Given the description of an element on the screen output the (x, y) to click on. 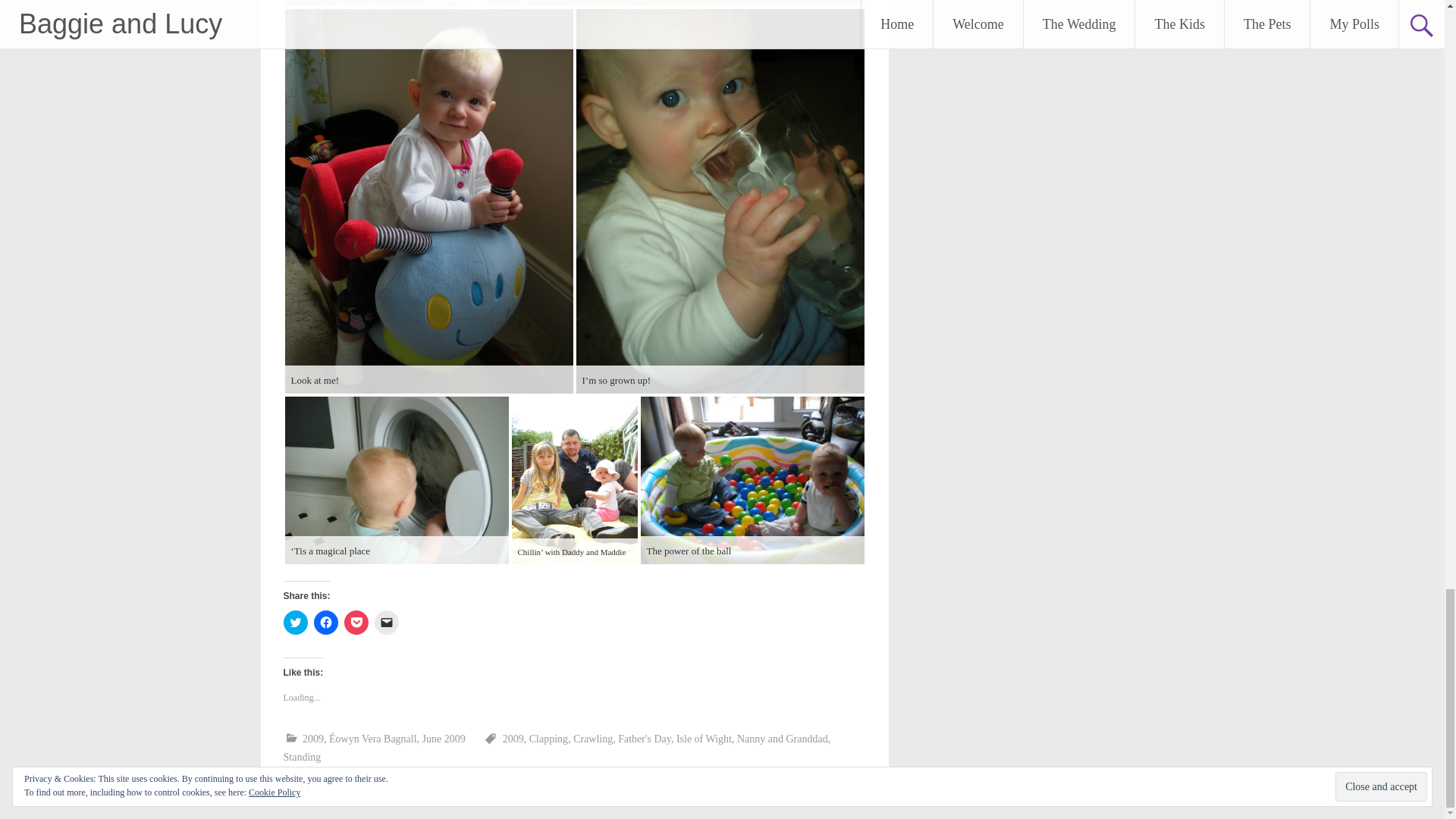
Click to share on Facebook (325, 622)
The power of the ball (751, 480)
Click to share on Twitter (295, 622)
I'm standing! (694, 2)
Can you do this Jack? (404, 2)
'Tis a magical place (396, 480)
Click to share on Pocket (355, 622)
